Given the description of an element on the screen output the (x, y) to click on. 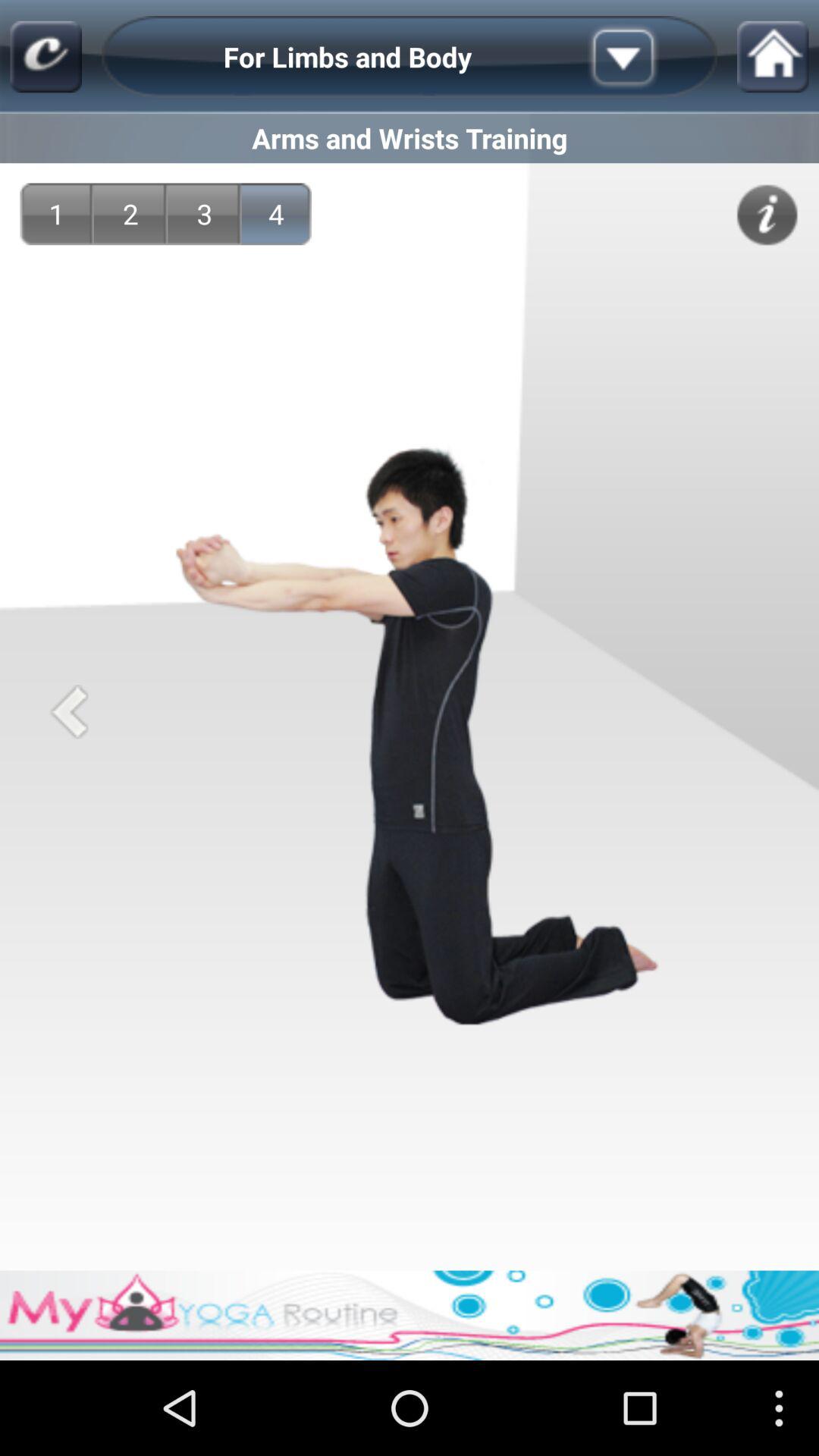
tap item to the left of the 2 (56, 214)
